Given the description of an element on the screen output the (x, y) to click on. 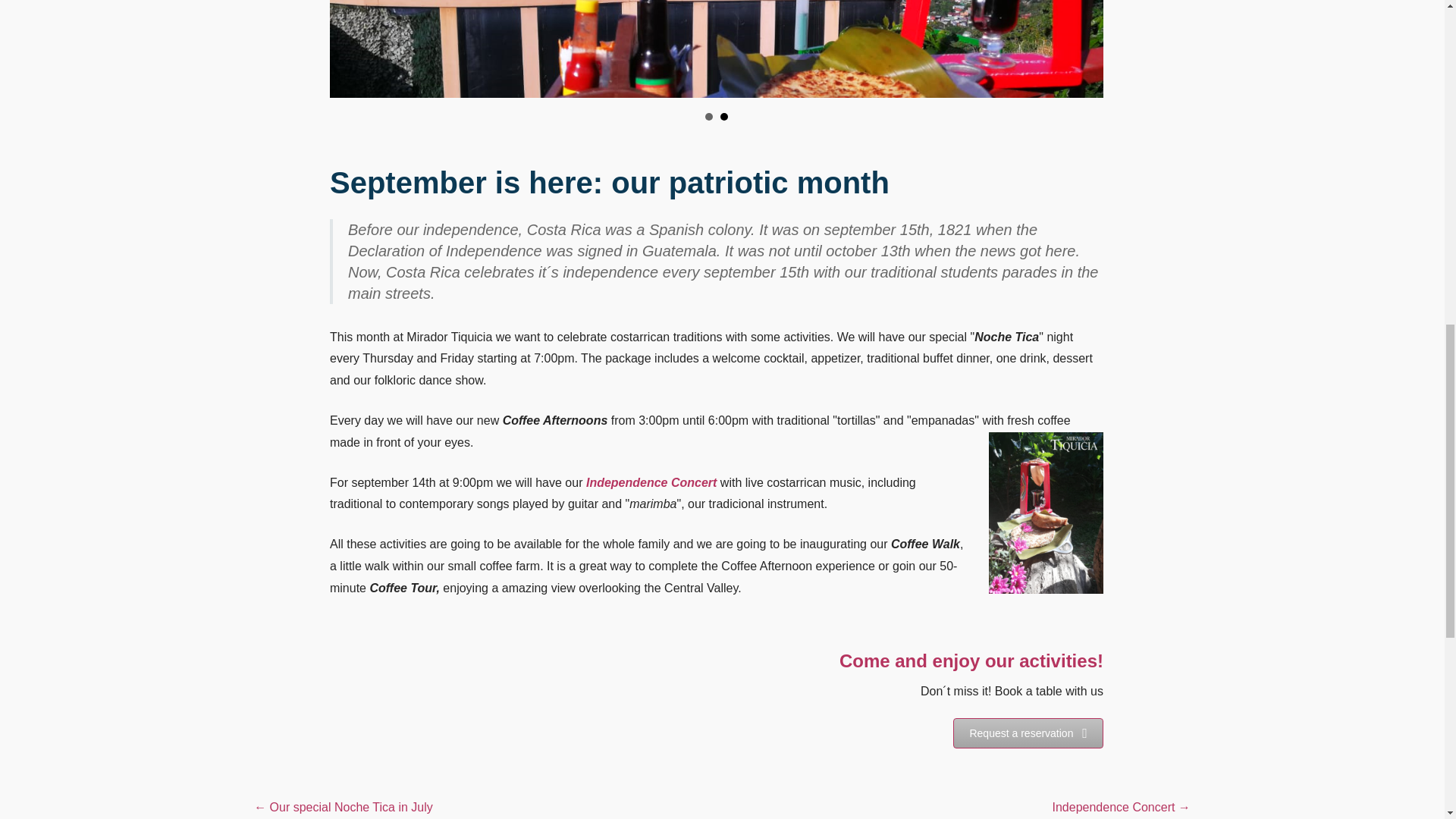
Independence Concert (651, 481)
1 (708, 116)
Request a reservation (1028, 733)
2 (724, 116)
Come and enjoy our activities! (971, 660)
